Given the description of an element on the screen output the (x, y) to click on. 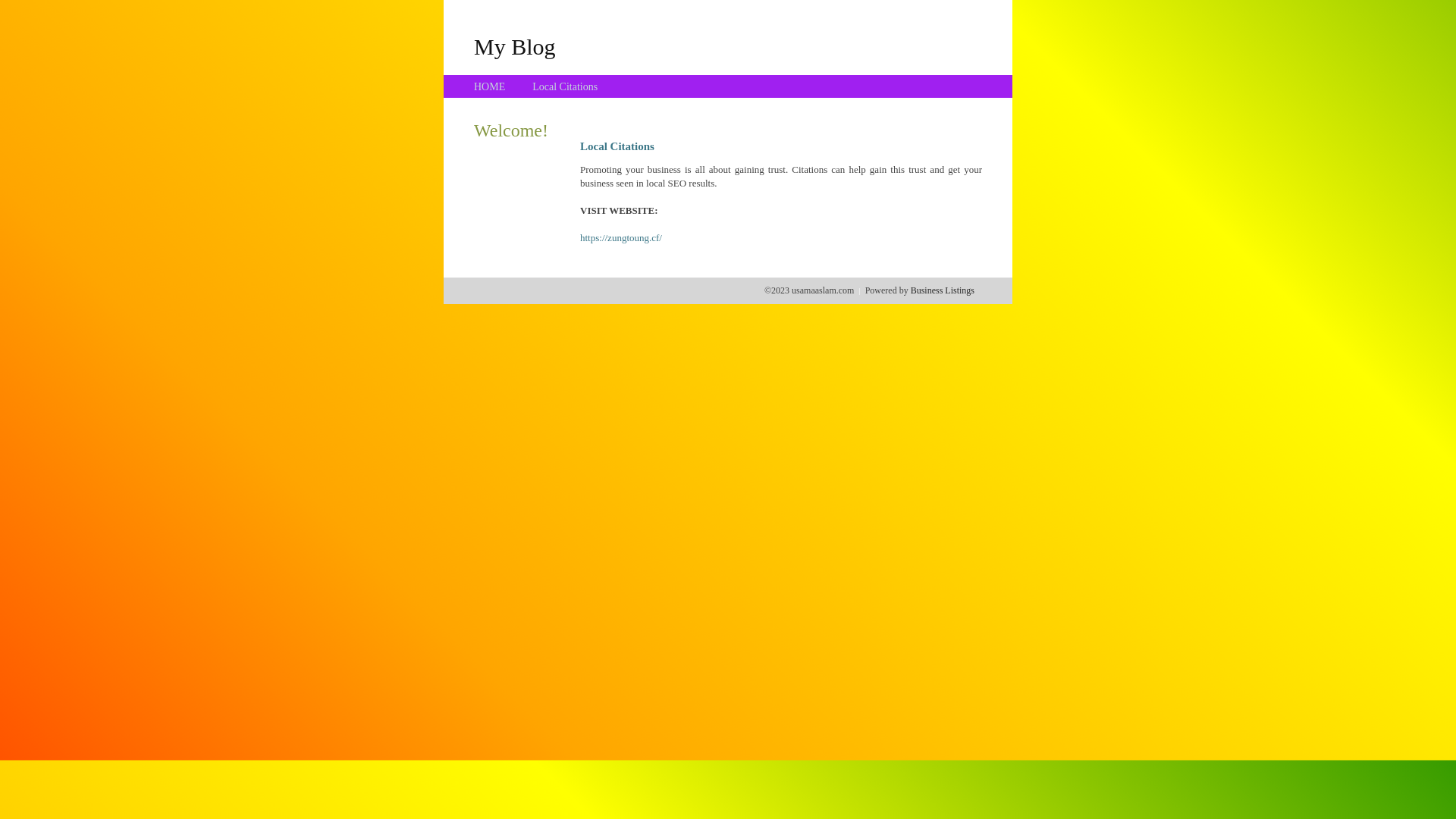
https://zungtoung.cf/ Element type: text (621, 237)
My Blog Element type: text (514, 46)
Local Citations Element type: text (564, 86)
HOME Element type: text (489, 86)
Business Listings Element type: text (942, 290)
